Given the description of an element on the screen output the (x, y) to click on. 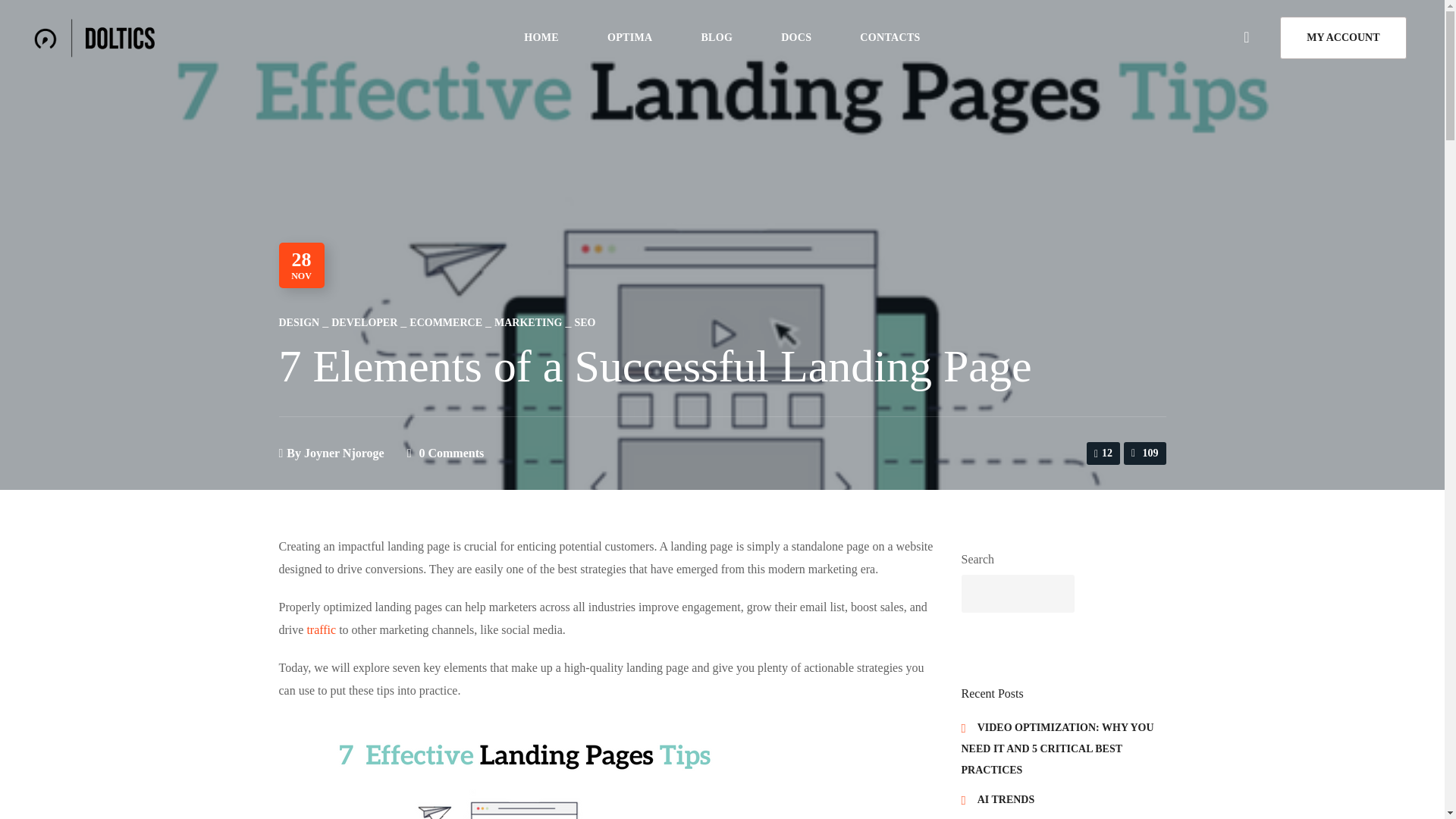
CONTACTS (889, 38)
Total Views (1144, 453)
OPTIMA (630, 38)
DESIGN (299, 322)
0 Comments (451, 452)
Like (1102, 453)
HOME (541, 38)
traffic (320, 629)
ECOMMERCE (445, 322)
Leave a reply (451, 452)
12 (1102, 453)
DEVELOPER (364, 322)
Joyner Njoroge (344, 452)
Search (1064, 441)
MY ACCOUNT (1342, 37)
